Given the description of an element on the screen output the (x, y) to click on. 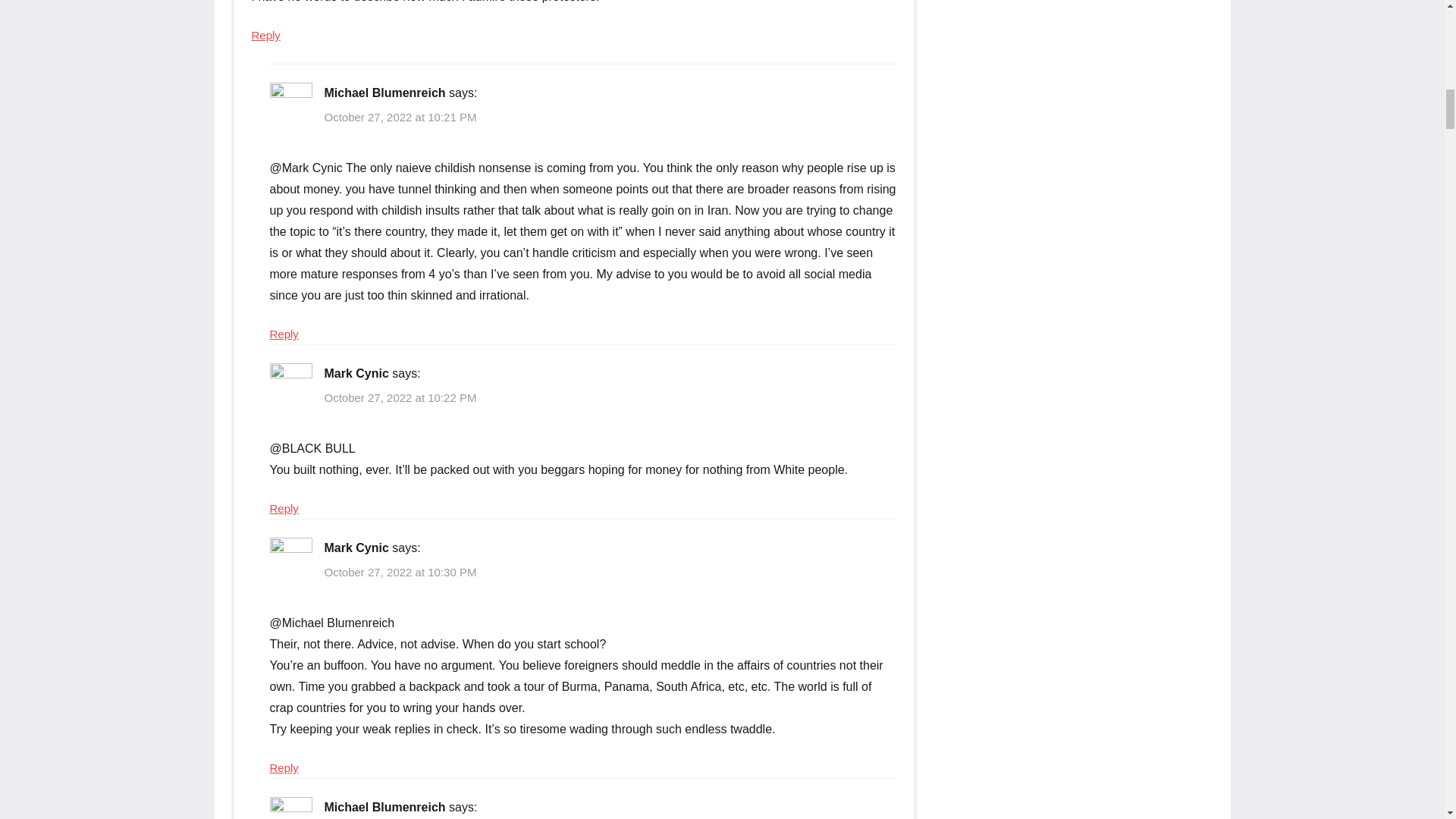
October 27, 2022 at 10:22 PM (400, 397)
Reply (266, 34)
Reply (283, 767)
October 27, 2022 at 10:30 PM (400, 571)
Reply (283, 508)
Reply (283, 333)
October 27, 2022 at 10:21 PM (400, 116)
